Given the description of an element on the screen output the (x, y) to click on. 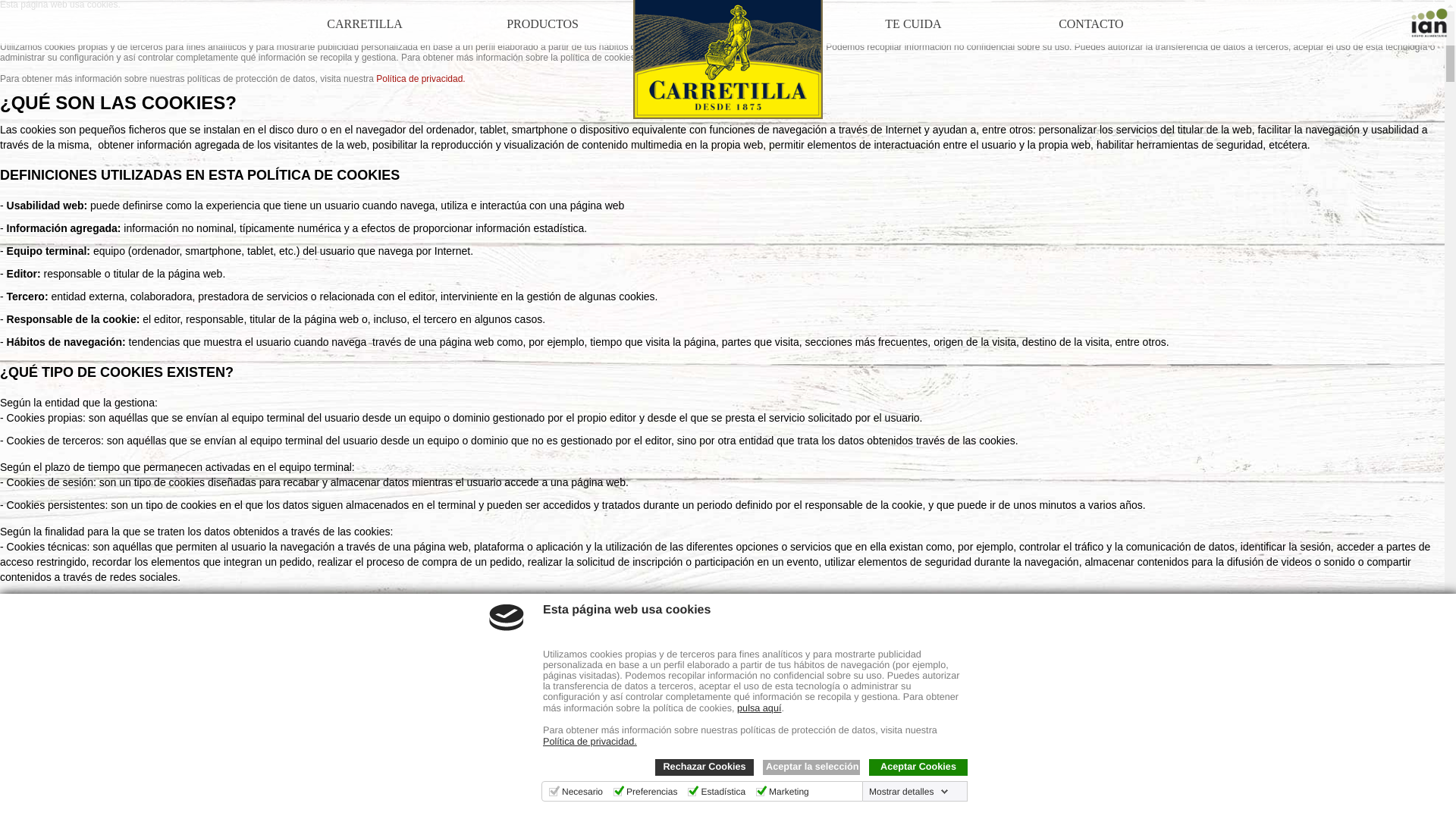
Cambiar tu consentimiento (72, 790)
Cookiebot (298, 814)
Cookiebot (298, 814)
